Given the description of an element on the screen output the (x, y) to click on. 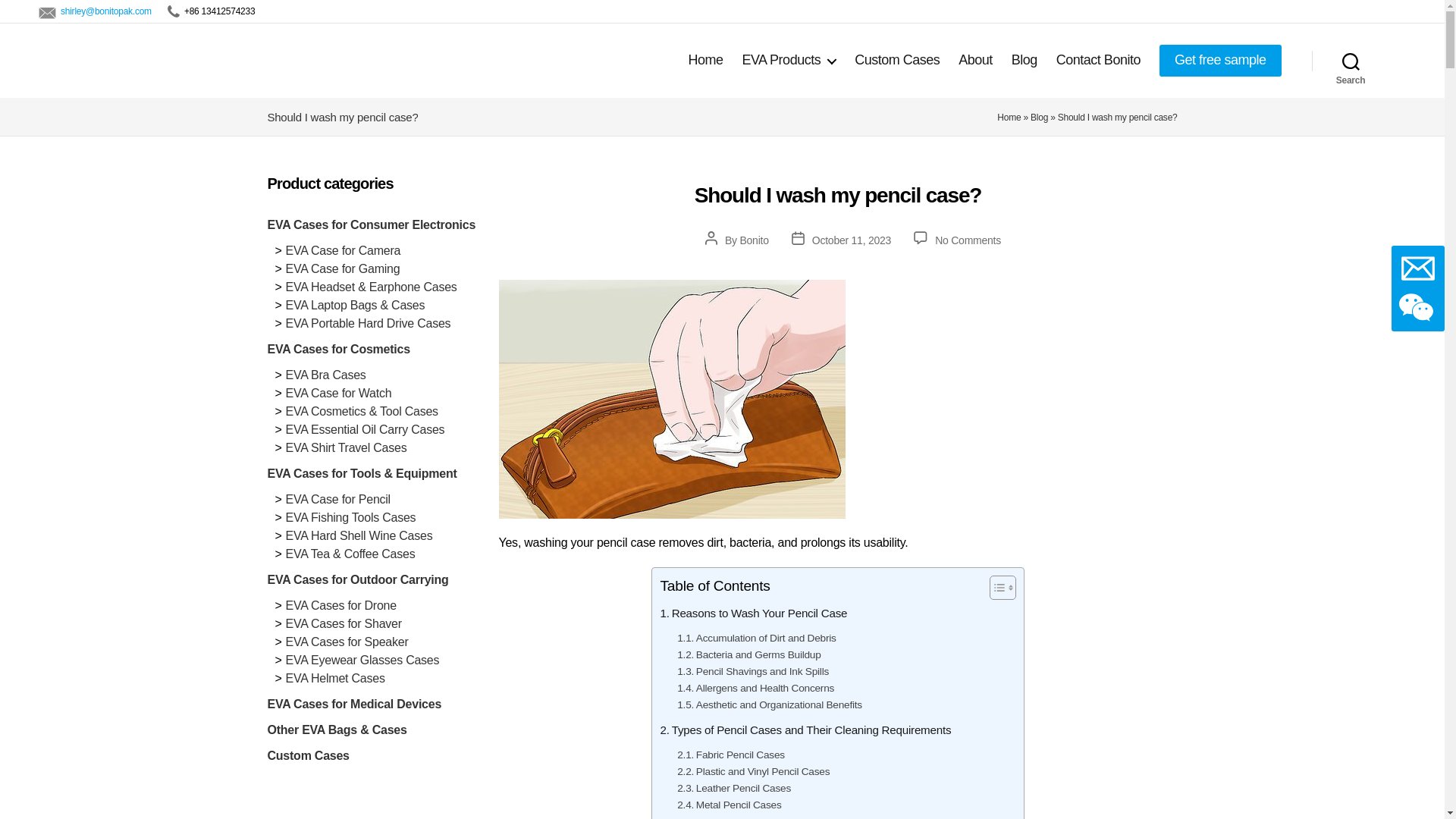
Reasons to Wash Your Pencil Case (753, 613)
Steps to Properly Clean a Pencil Case (759, 816)
Get free sample (1219, 60)
EVA Products (788, 60)
Metal Pencil Cases (728, 805)
Leather Pencil Cases (733, 788)
Fabric Pencil Cases (730, 754)
Home (704, 60)
Accumulation of Dirt and Debris (756, 638)
Plastic and Vinyl Pencil Cases (753, 771)
